Given the description of an element on the screen output the (x, y) to click on. 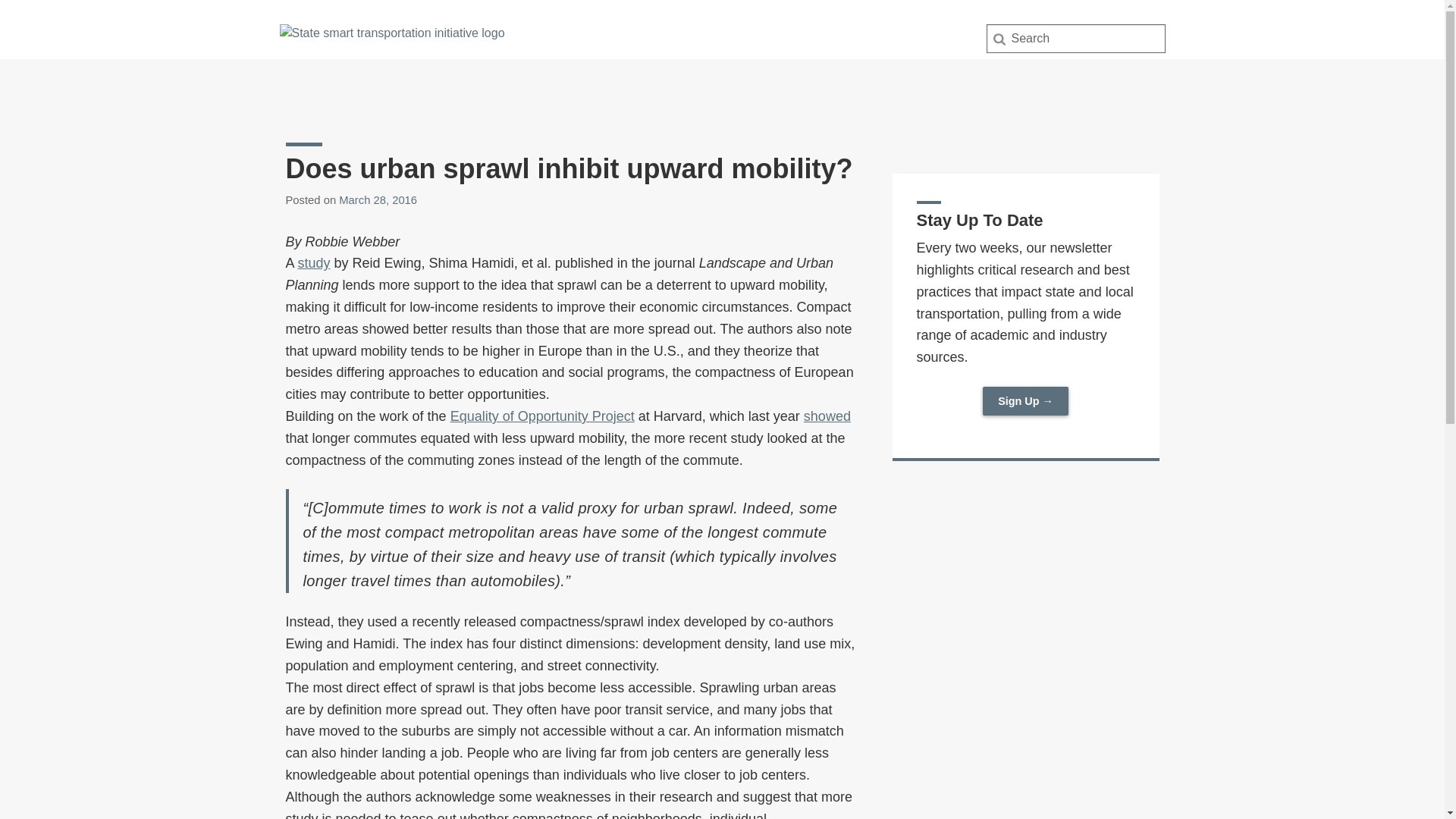
March 28, 2016 (377, 200)
study (314, 263)
Search (37, 16)
showed (826, 416)
Equality of Opportunity Project (541, 416)
Skip to main content (3, 3)
